Given the description of an element on the screen output the (x, y) to click on. 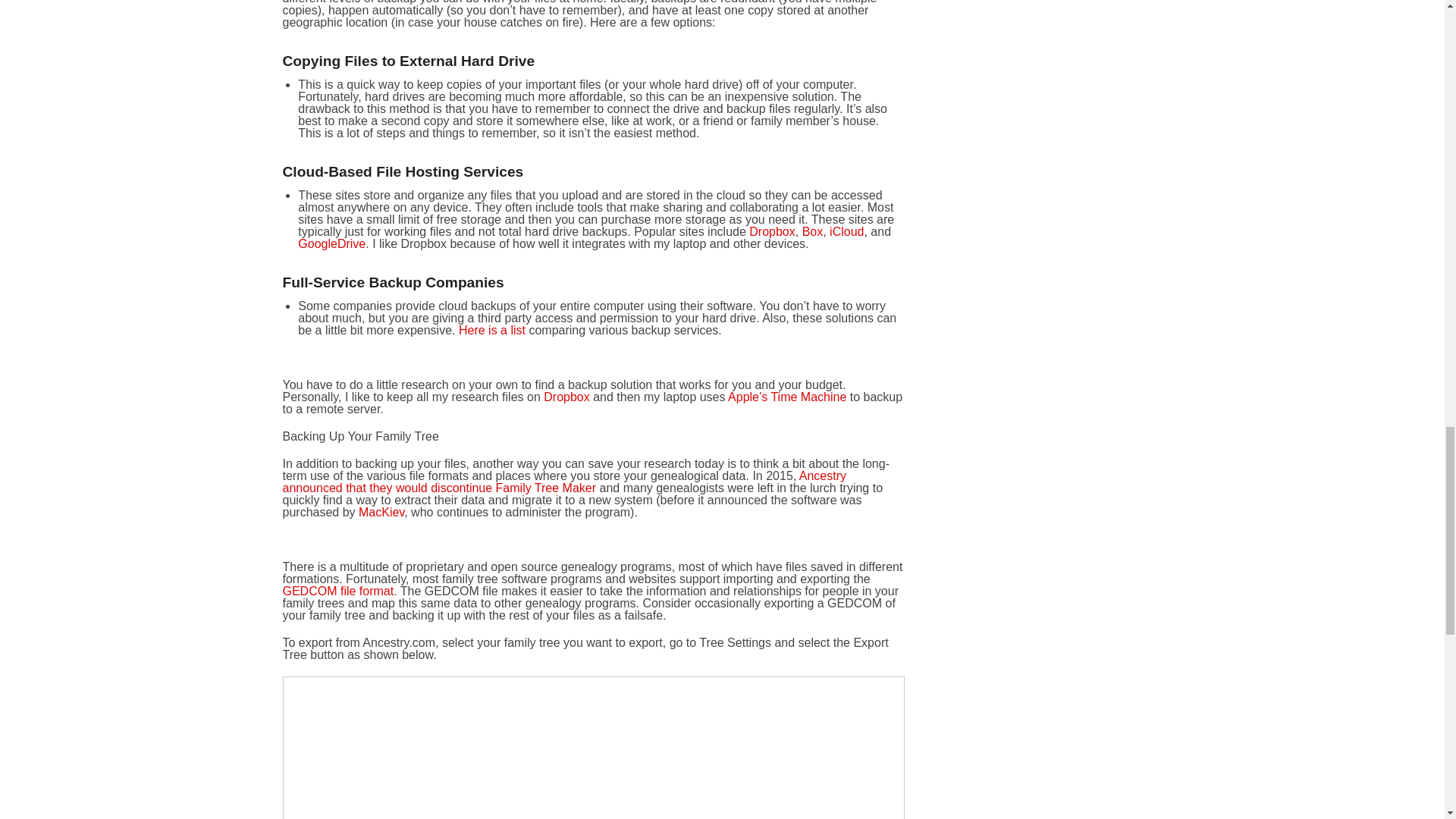
GEDCOM file format (337, 590)
MacKiev (381, 512)
Here is a list (491, 329)
Dropbox (771, 231)
GoogleDrive (331, 243)
iCloud (846, 231)
Box (813, 231)
Dropbox (566, 396)
